Given the description of an element on the screen output the (x, y) to click on. 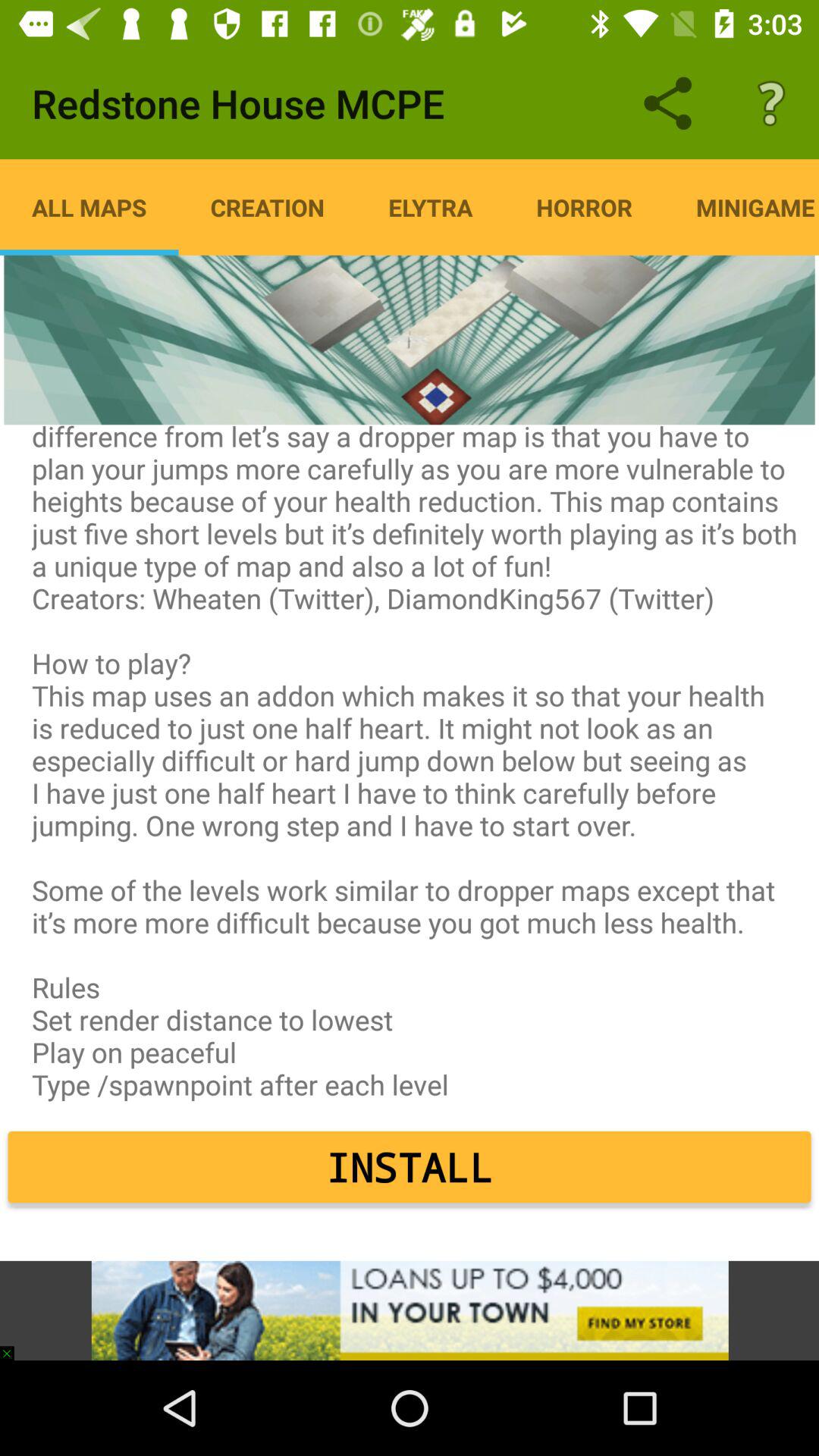
select the item below redstone house mcpe icon (89, 207)
